Given the description of an element on the screen output the (x, y) to click on. 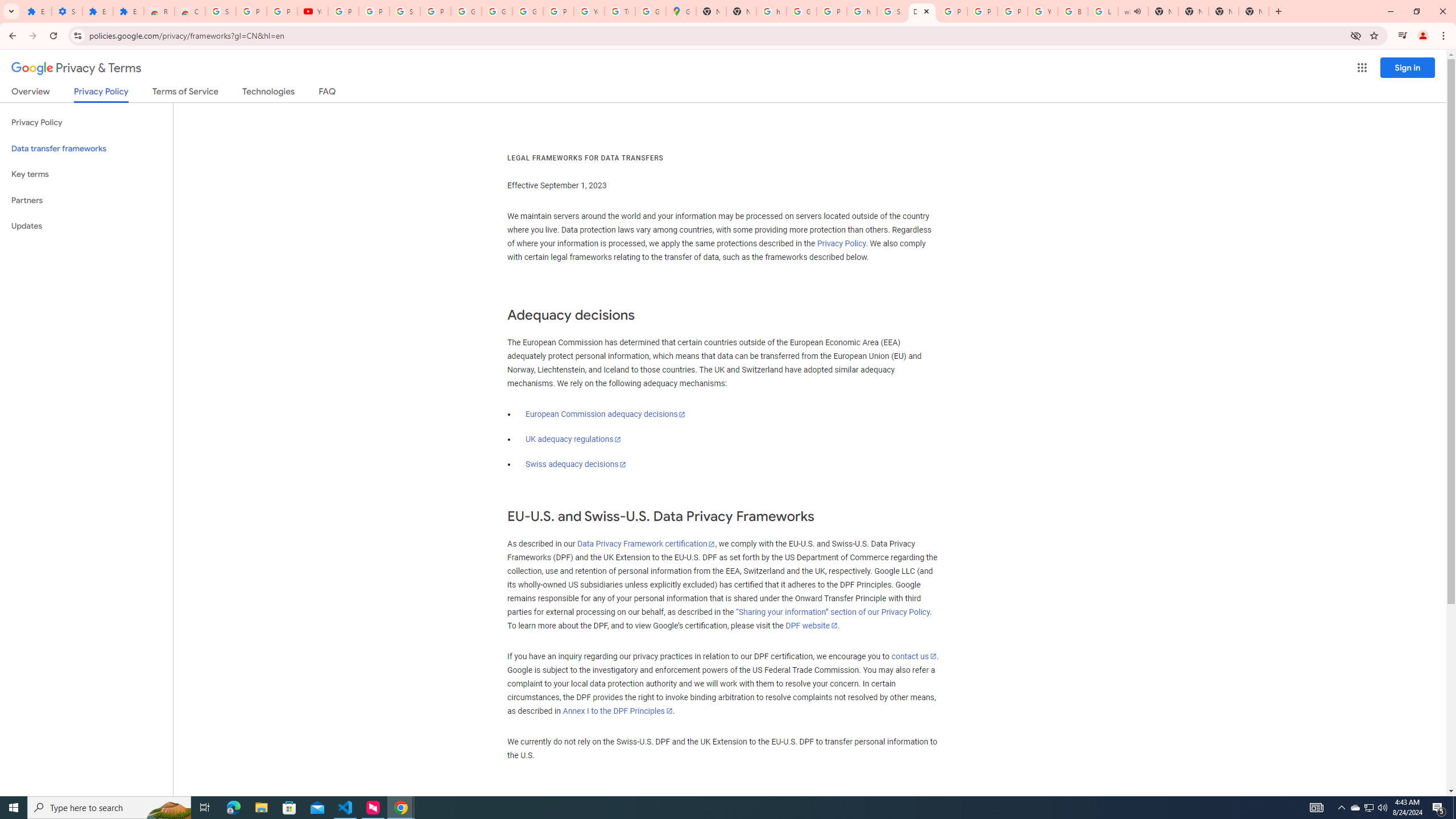
Sign in - Google Accounts (220, 11)
Sign in - Google Accounts (892, 11)
Chrome Web Store - Themes (189, 11)
contact us (913, 656)
European Commission adequacy decisions (605, 414)
Privacy Help Center - Policies Help (982, 11)
DPF website (810, 625)
